Given the description of an element on the screen output the (x, y) to click on. 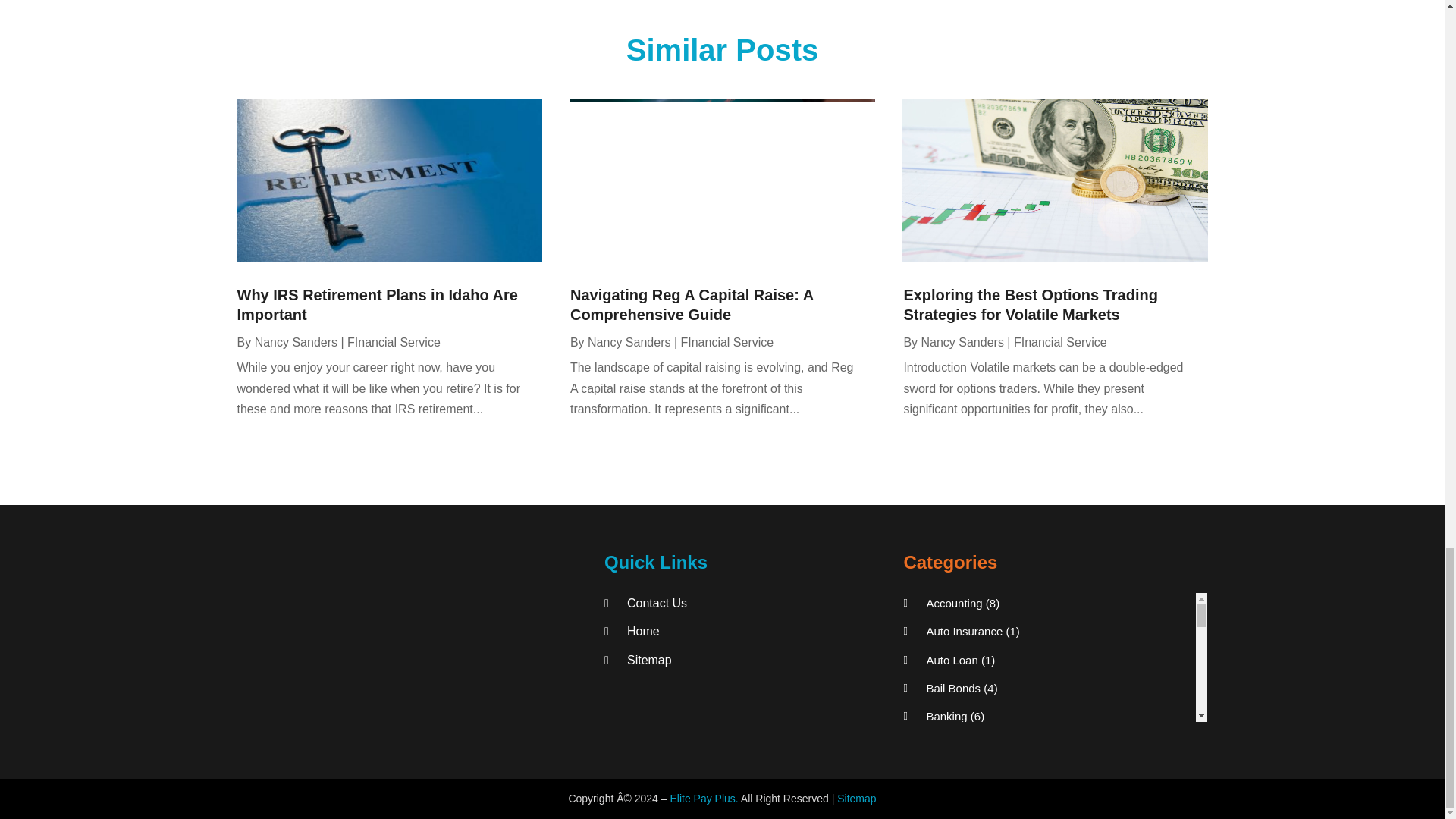
Posts by Nancy Sanders (961, 341)
Posts by Nancy Sanders (295, 341)
Posts by Nancy Sanders (628, 341)
